Given the description of an element on the screen output the (x, y) to click on. 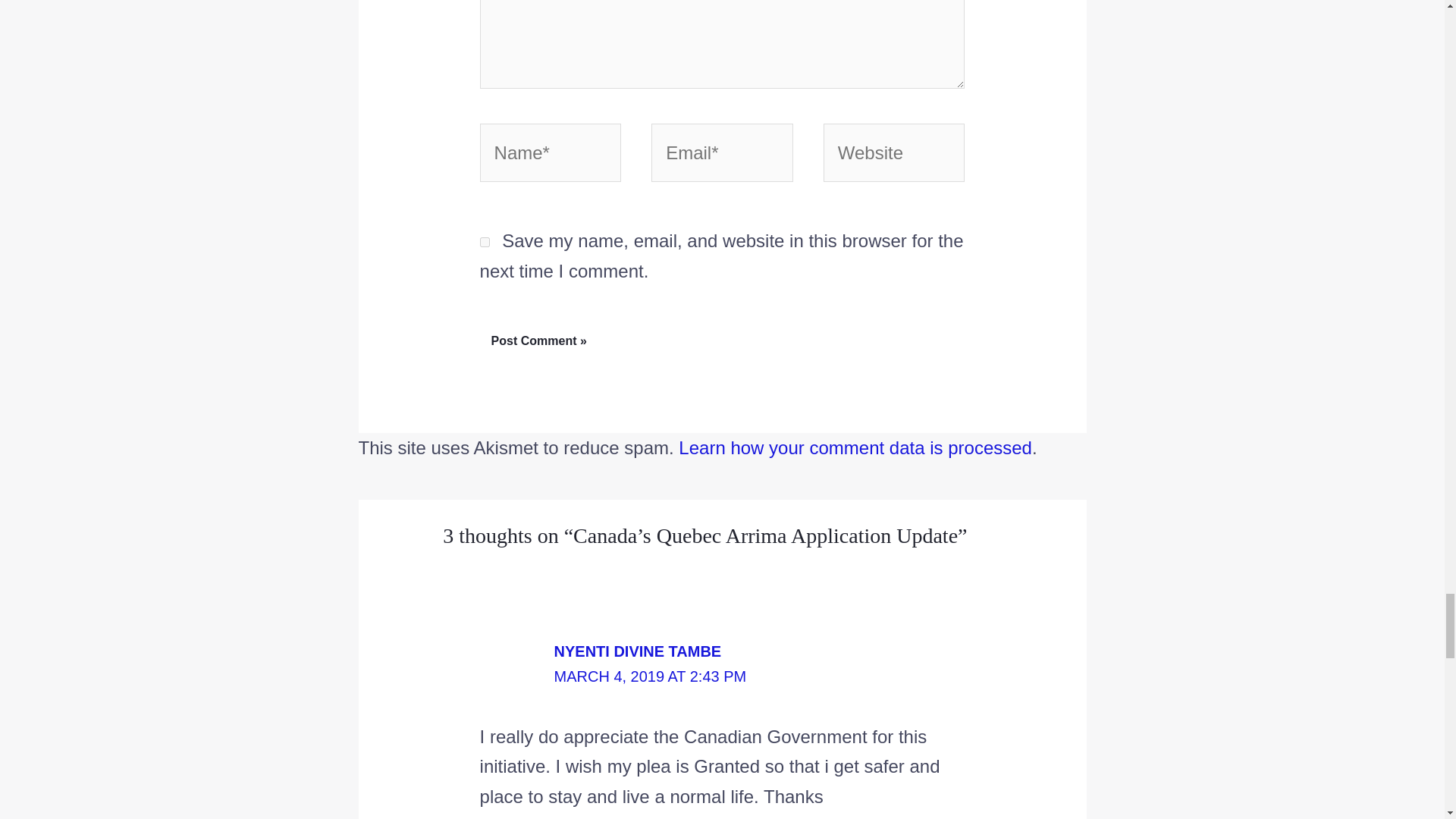
yes (484, 242)
